Given the description of an element on the screen output the (x, y) to click on. 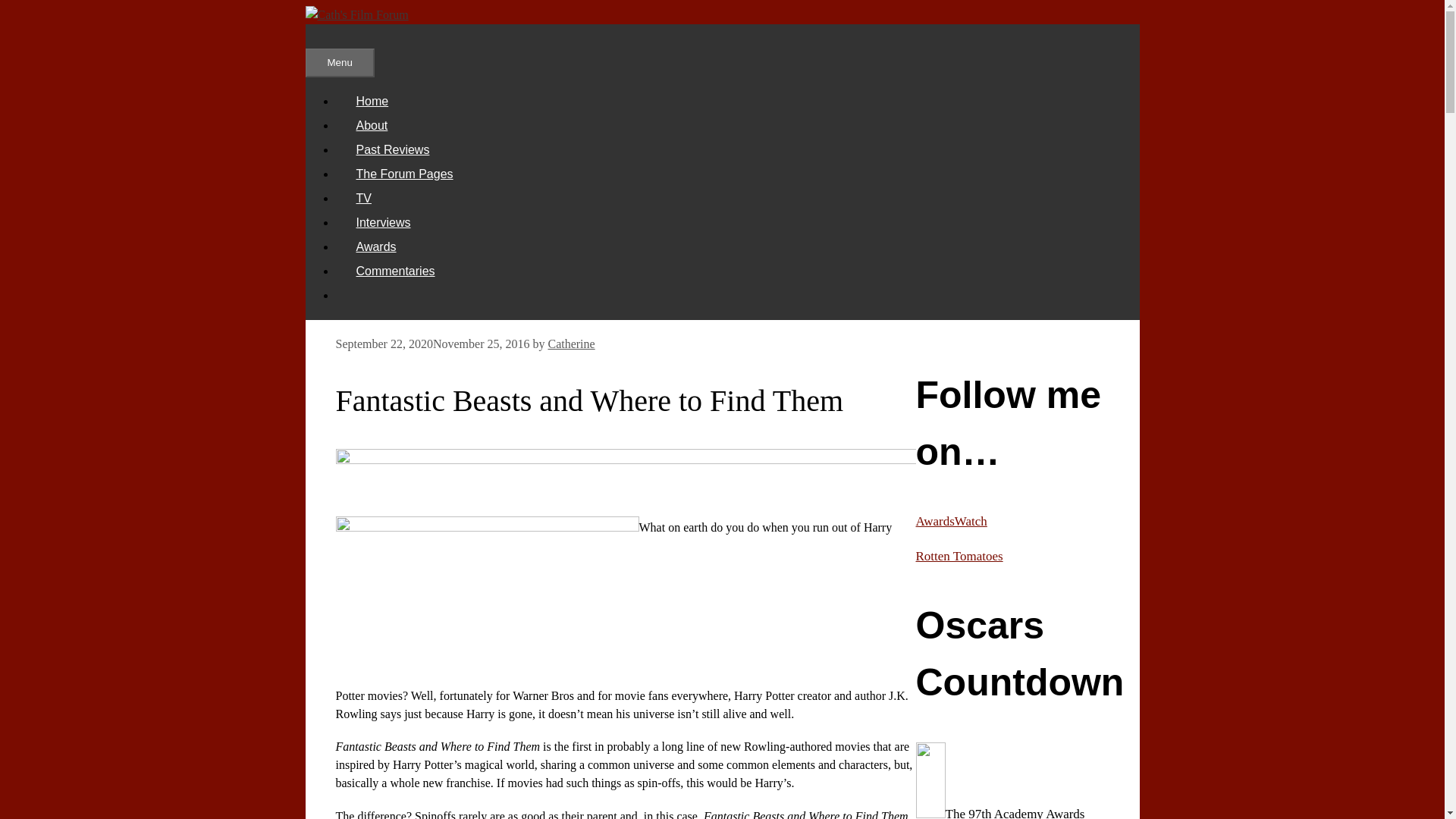
Rotten Tomatoes (959, 555)
Past Reviews (391, 149)
TV (362, 197)
Commentaries (394, 270)
About (370, 124)
AwardsWatch (951, 521)
View all posts by Catherine (570, 343)
The Forum Pages (403, 173)
